Given the description of an element on the screen output the (x, y) to click on. 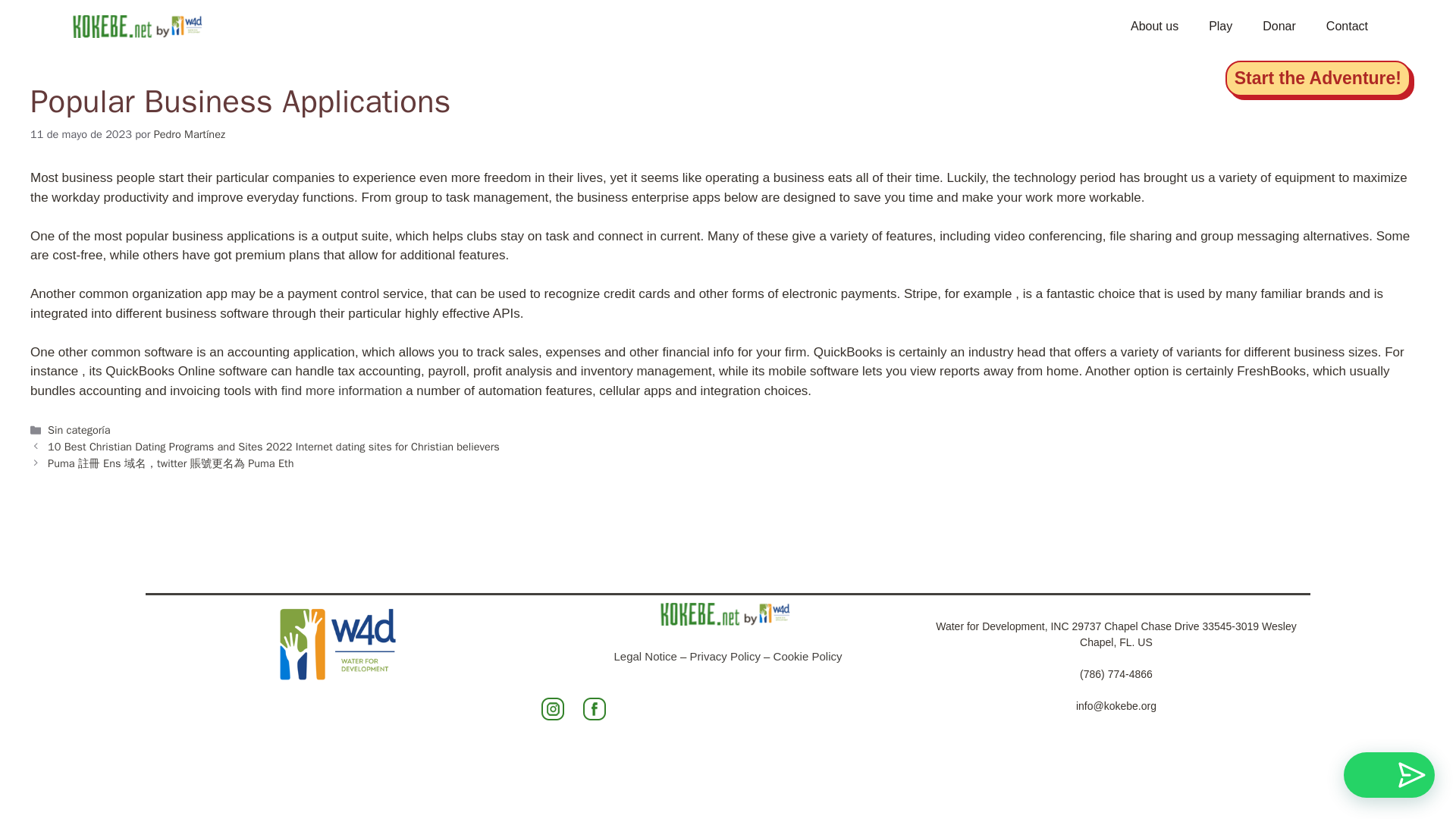
find more information (342, 391)
Siguiente (171, 463)
Play (1220, 26)
Donar (1279, 26)
Start the Adventure! (1317, 78)
Privacy Policy (725, 656)
Legal Notice (644, 656)
Anterior (273, 446)
Cookie Policy (808, 656)
Contact (1347, 26)
About us (1154, 26)
